Given the description of an element on the screen output the (x, y) to click on. 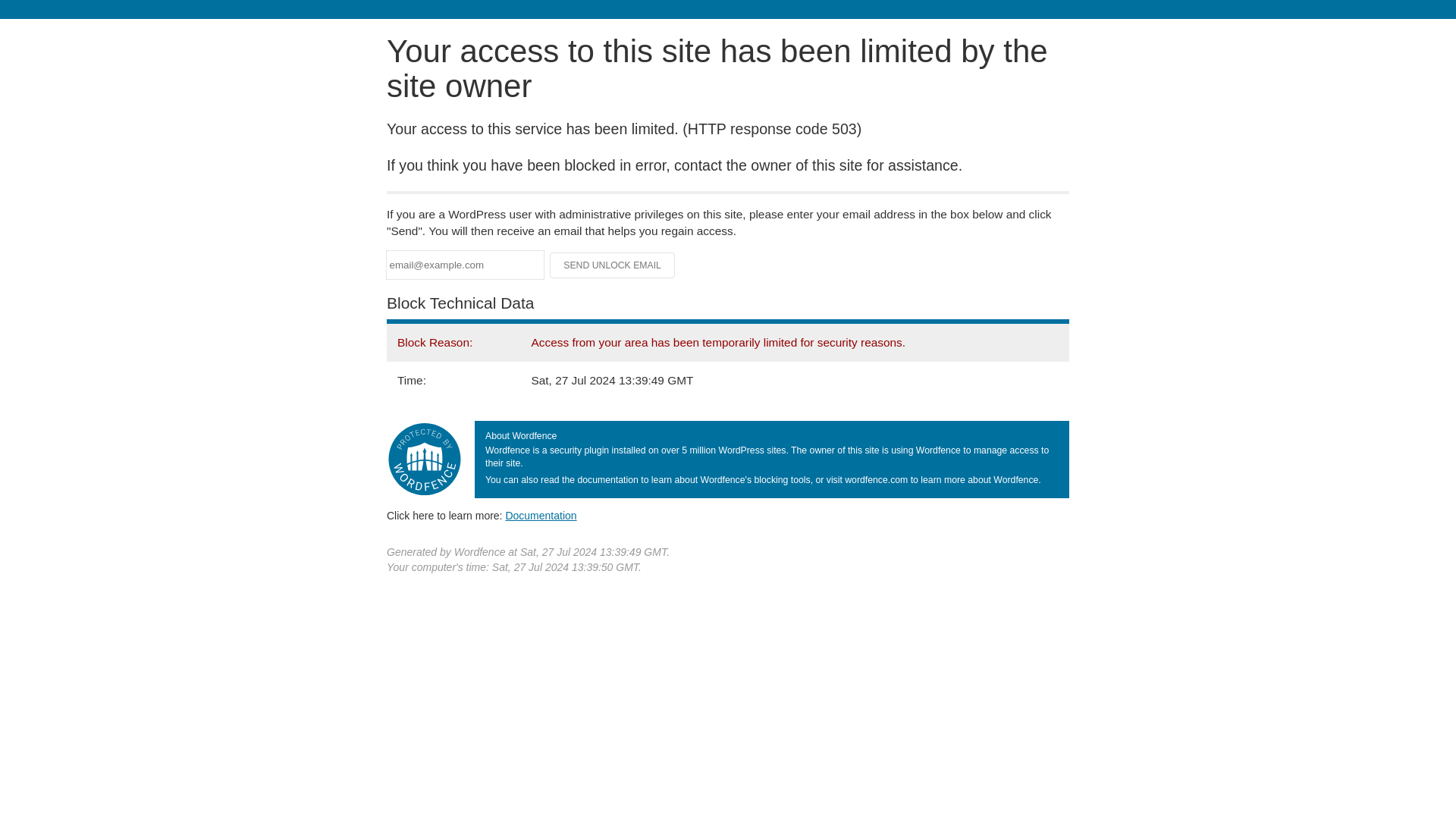
Send Unlock Email (612, 265)
Send Unlock Email (612, 265)
Documentation (540, 515)
